Given the description of an element on the screen output the (x, y) to click on. 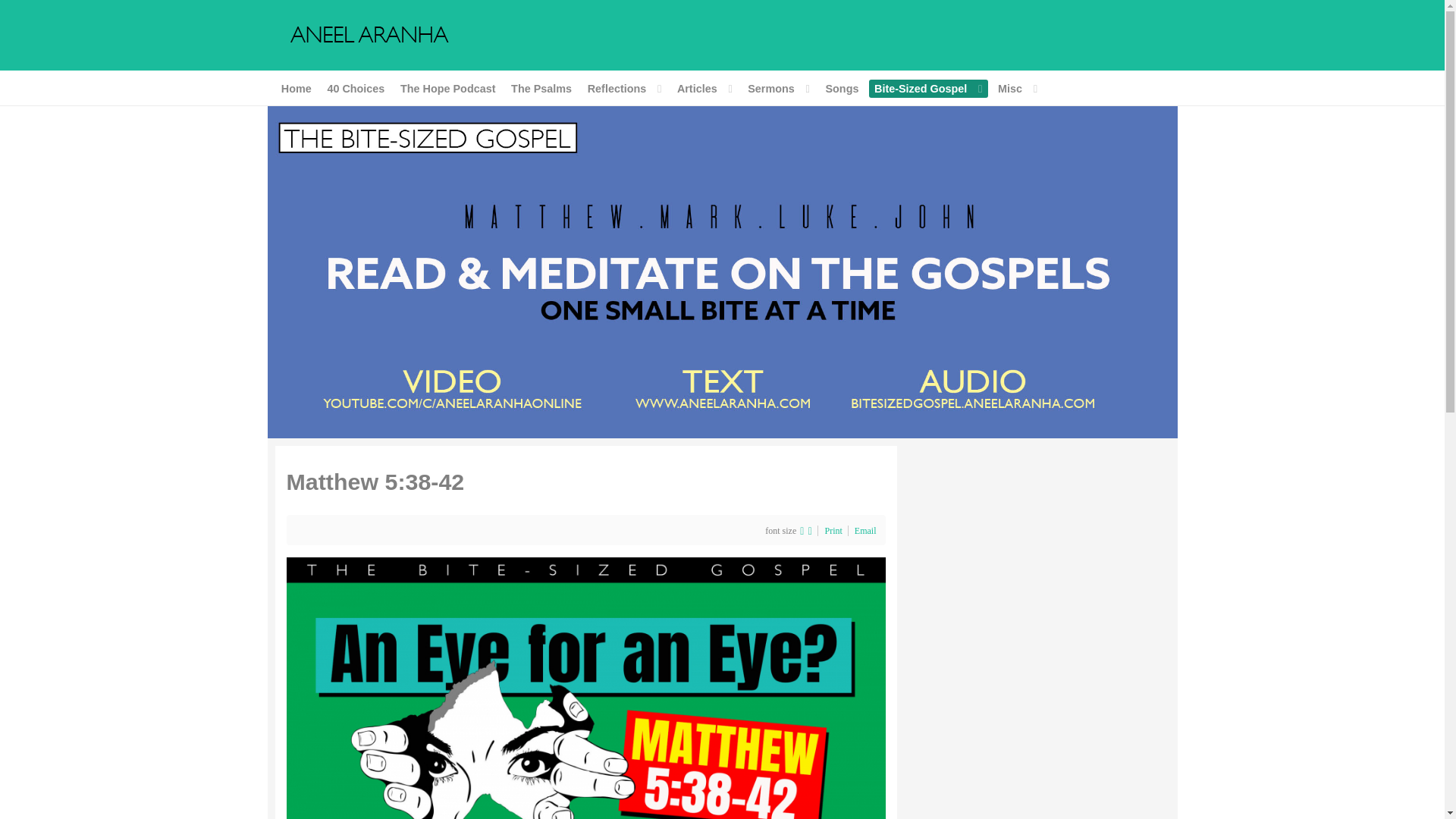
Home (296, 88)
Sermons (778, 88)
Bite-Sized Gospel (928, 88)
Aneel Aranha (369, 33)
Misc (1016, 88)
Articles (704, 88)
40 Choices (355, 88)
Aneel Aranha (721, 270)
The Hope Podcast (447, 88)
Click to preview image (585, 718)
